Given the description of an element on the screen output the (x, y) to click on. 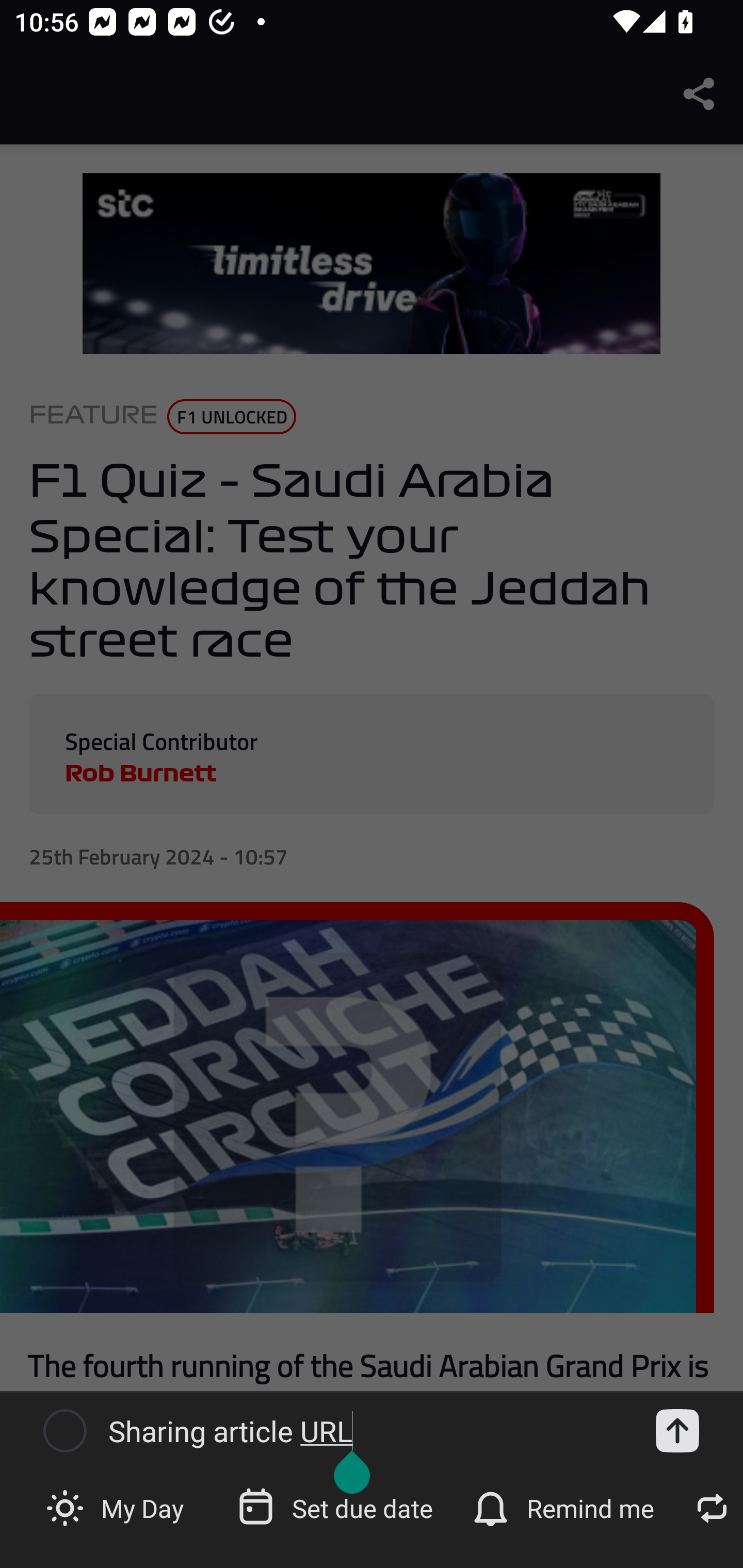
Add a task (676, 1430)
Sharing article URL (366, 1430)
My Day (116, 1507)
Set due date (337, 1507)
Remind me (565, 1507)
